Given the description of an element on the screen output the (x, y) to click on. 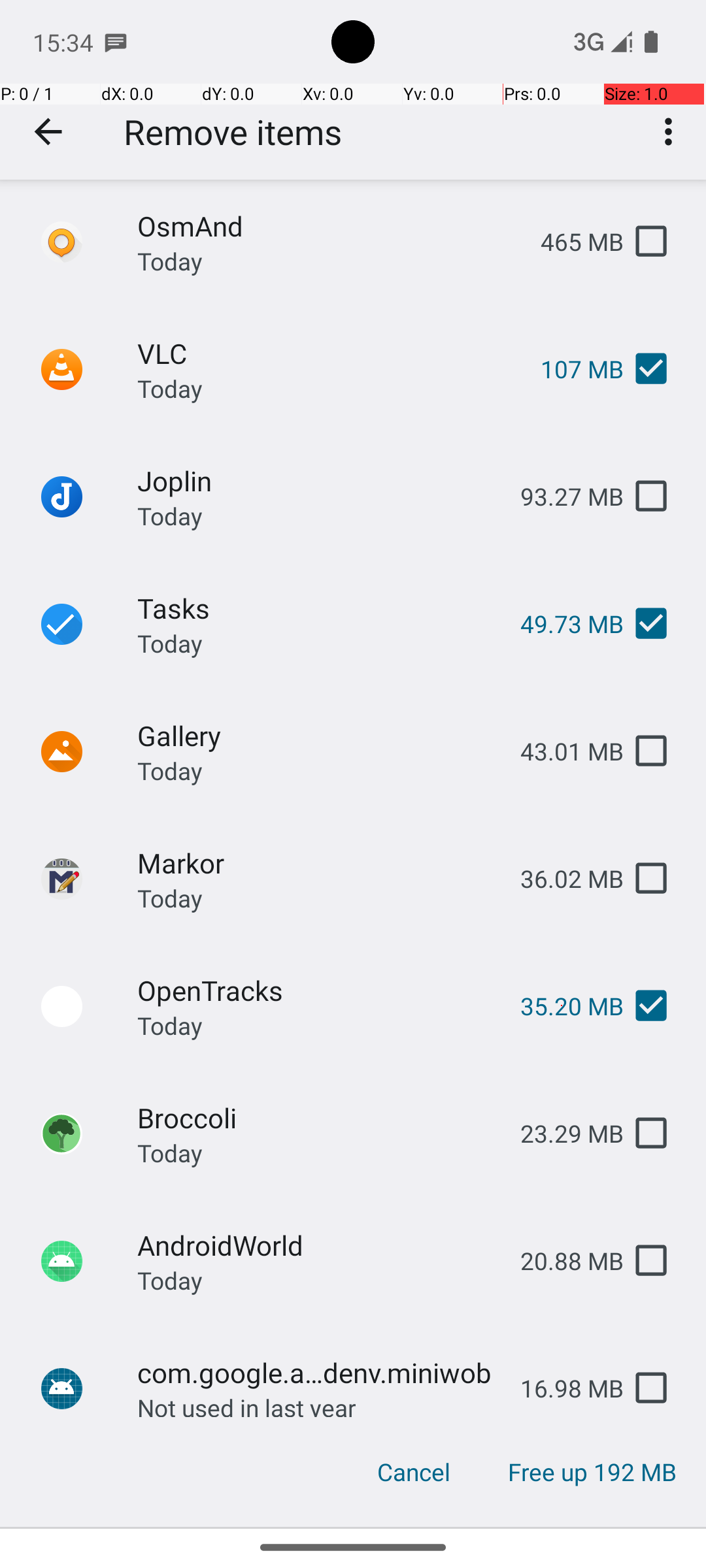
Remove items Element type: android.widget.TextView (232, 131)
Free up 192 MB Element type: android.widget.Button (592, 1471)
107 MB Element type: android.widget.TextView (571, 368)
93.27 MB Element type: android.widget.TextView (561, 495)
49.73 MB Element type: android.widget.TextView (561, 623)
43.01 MB Element type: android.widget.TextView (561, 750)
36.02 MB Element type: android.widget.TextView (561, 878)
35.20 MB Element type: android.widget.TextView (561, 1005)
23.29 MB Element type: android.widget.TextView (561, 1132)
20.88 MB Element type: android.widget.TextView (561, 1260)
com.google.androidenv.miniwob Element type: android.widget.TextView (318, 1371)
Not used in last year Element type: android.widget.TextView (246, 1403)
16.98 MB Element type: android.widget.TextView (561, 1387)
